Given the description of an element on the screen output the (x, y) to click on. 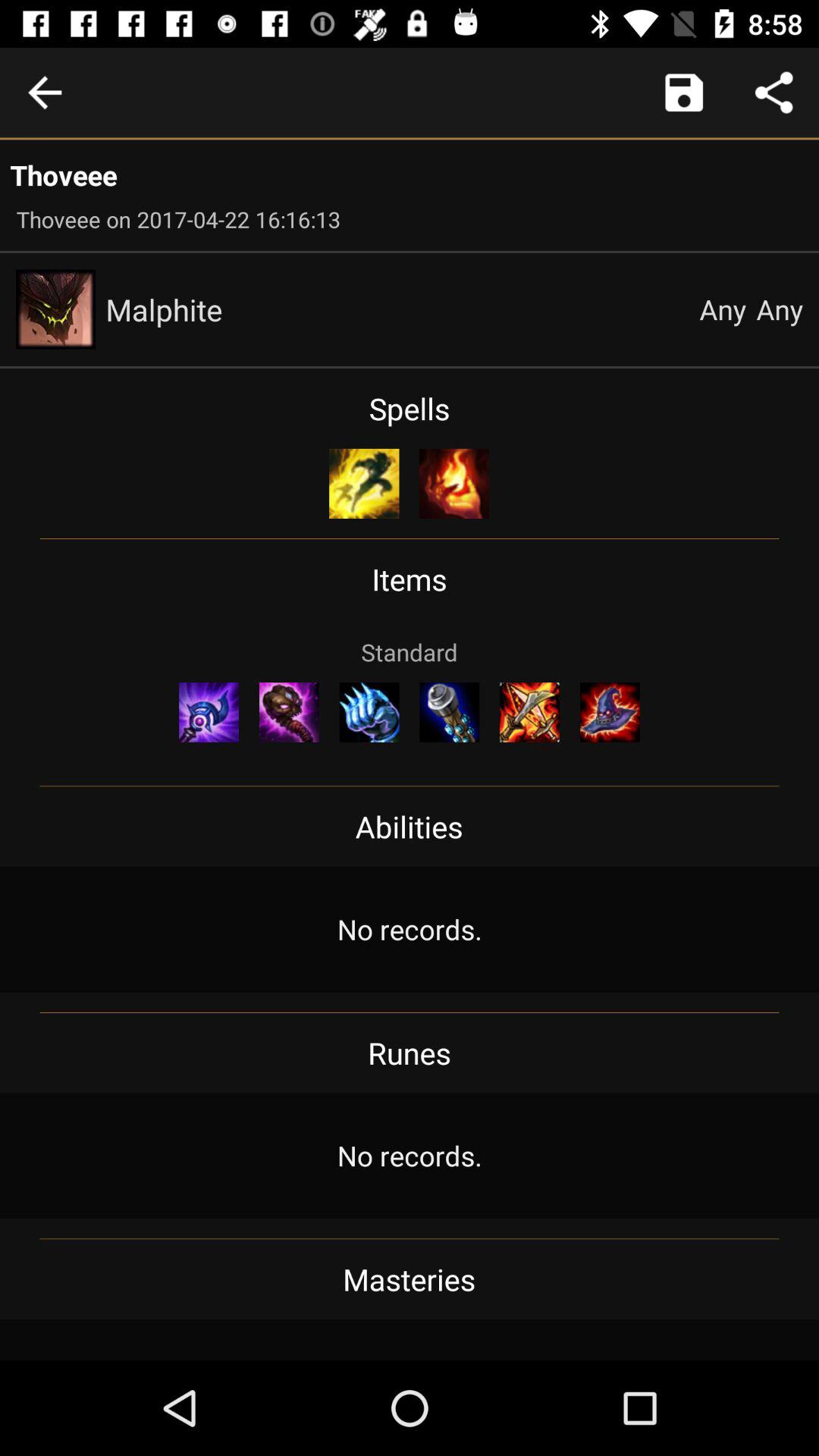
share (774, 92)
